Given the description of an element on the screen output the (x, y) to click on. 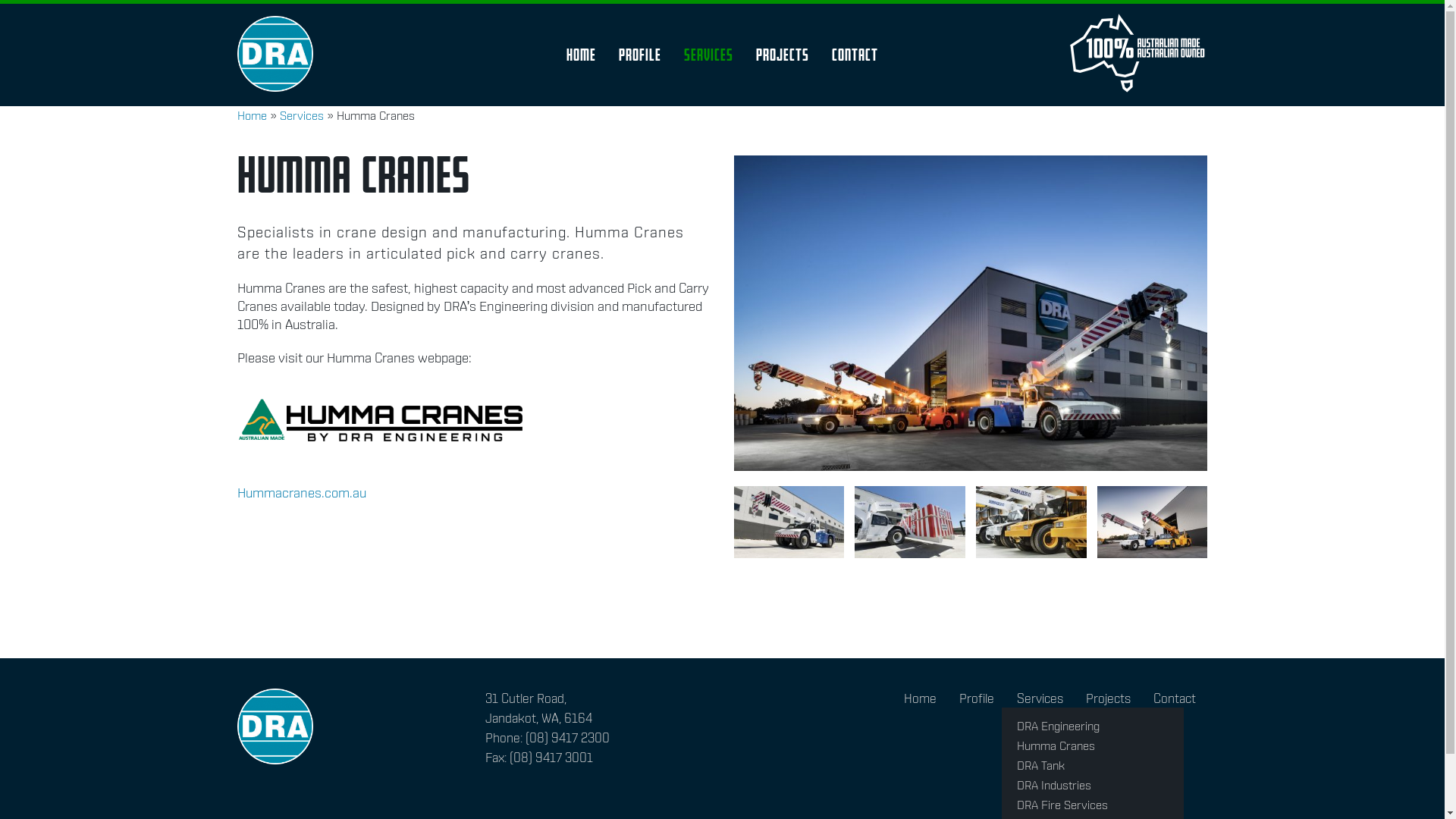
Home Element type: text (580, 54)
DRA Engineering Element type: text (1092, 726)
Profile Element type: text (976, 698)
DRA Industries Element type: text (1092, 785)
Hummacranes.com.au Element type: text (300, 492)
Home Element type: text (919, 698)
Services Element type: text (301, 115)
Home Element type: text (251, 115)
Contact Element type: text (855, 54)
DRA Fire Services Element type: text (1092, 805)
Projects Element type: text (1108, 698)
Humma Cranes Element type: text (1092, 746)
Projects Element type: text (782, 54)
Contact Element type: text (1174, 698)
Services Element type: text (1039, 698)
(08) 9417 2300 Element type: text (567, 737)
Profile Element type: text (639, 54)
Services Element type: text (708, 54)
DRA Tank Element type: text (1092, 765)
